Given the description of an element on the screen output the (x, y) to click on. 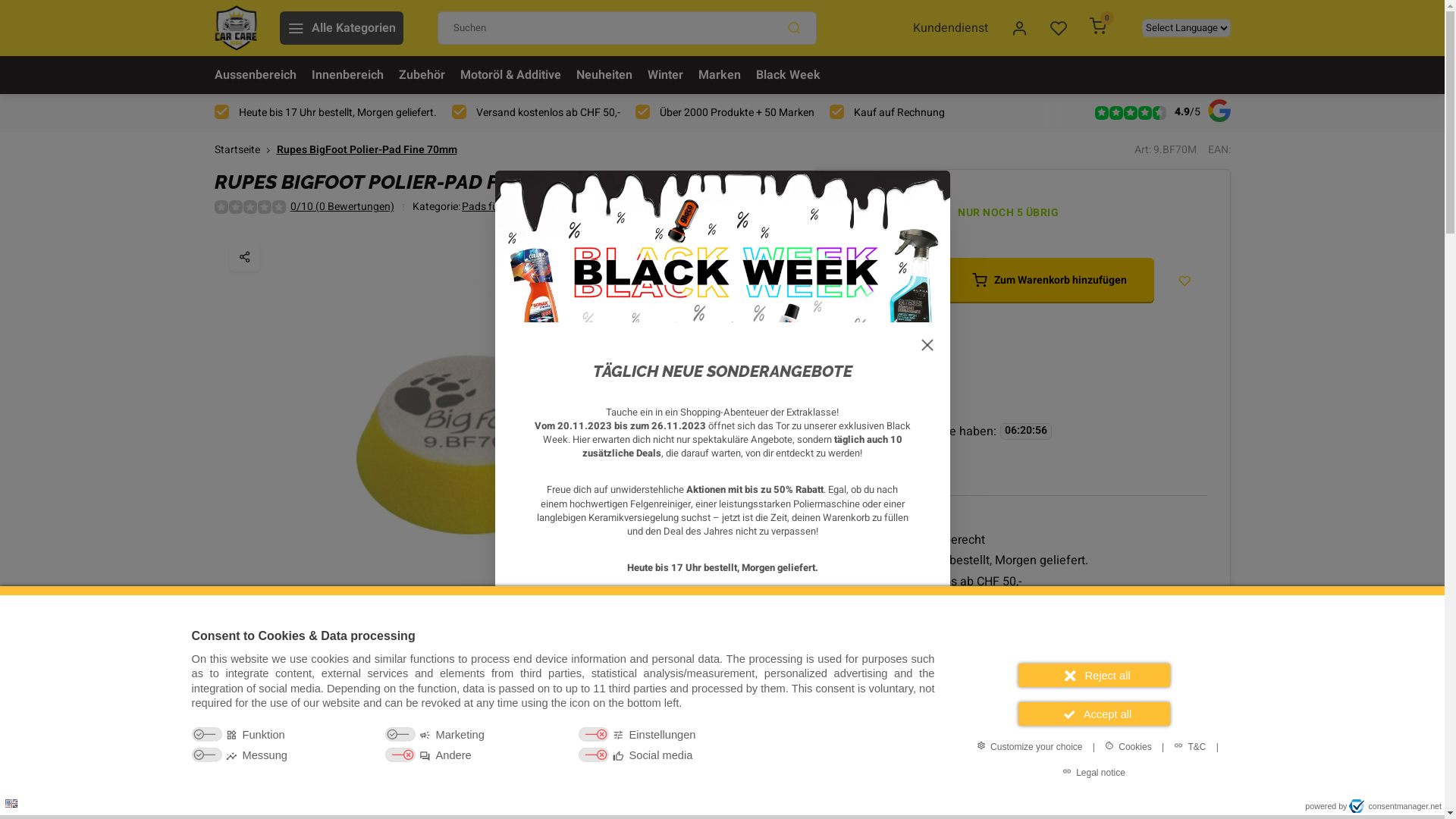
Legal notice Element type: text (1093, 771)
Language: en Element type: hover (11, 802)
Innenbereich Element type: text (346, 75)
Aussenbereich Element type: text (254, 75)
0 Element type: text (1097, 27)
- Element type: text (852, 280)
consentmanager.net Element type: text (1395, 805)
Black Week Element type: text (787, 75)
+ Element type: text (920, 280)
Kundendienst Element type: text (950, 27)
T&C Element type: text (1189, 746)
Alle Kategorien Element type: text (341, 27)
Cookies Element type: text (1127, 746)
Lesen Sie mehr Element type: text (1022, 463)
Bewertungen Element type: text (662, 739)
Accept all Element type: text (1093, 713)
Marken Element type: text (718, 75)
Zuletzt angesehen Element type: text (553, 739)
Neuheiten Element type: text (604, 75)
Privacy settings Element type: hover (17, 801)
Winter Element type: text (665, 75)
Produktbeschreibung Element type: text (282, 739)
Startseite Element type: text (244, 150)
Language: en Element type: hover (11, 803)
Car Care King Element type: hover (235, 27)
0/10 (0 Bewertungen) Element type: text (341, 207)
Customize your choice Element type: text (1029, 746)
Reject all Element type: text (1093, 675)
Rupes BigFoot Polier-Pad Fine 70mm Element type: text (366, 150)
